Given the description of an element on the screen output the (x, y) to click on. 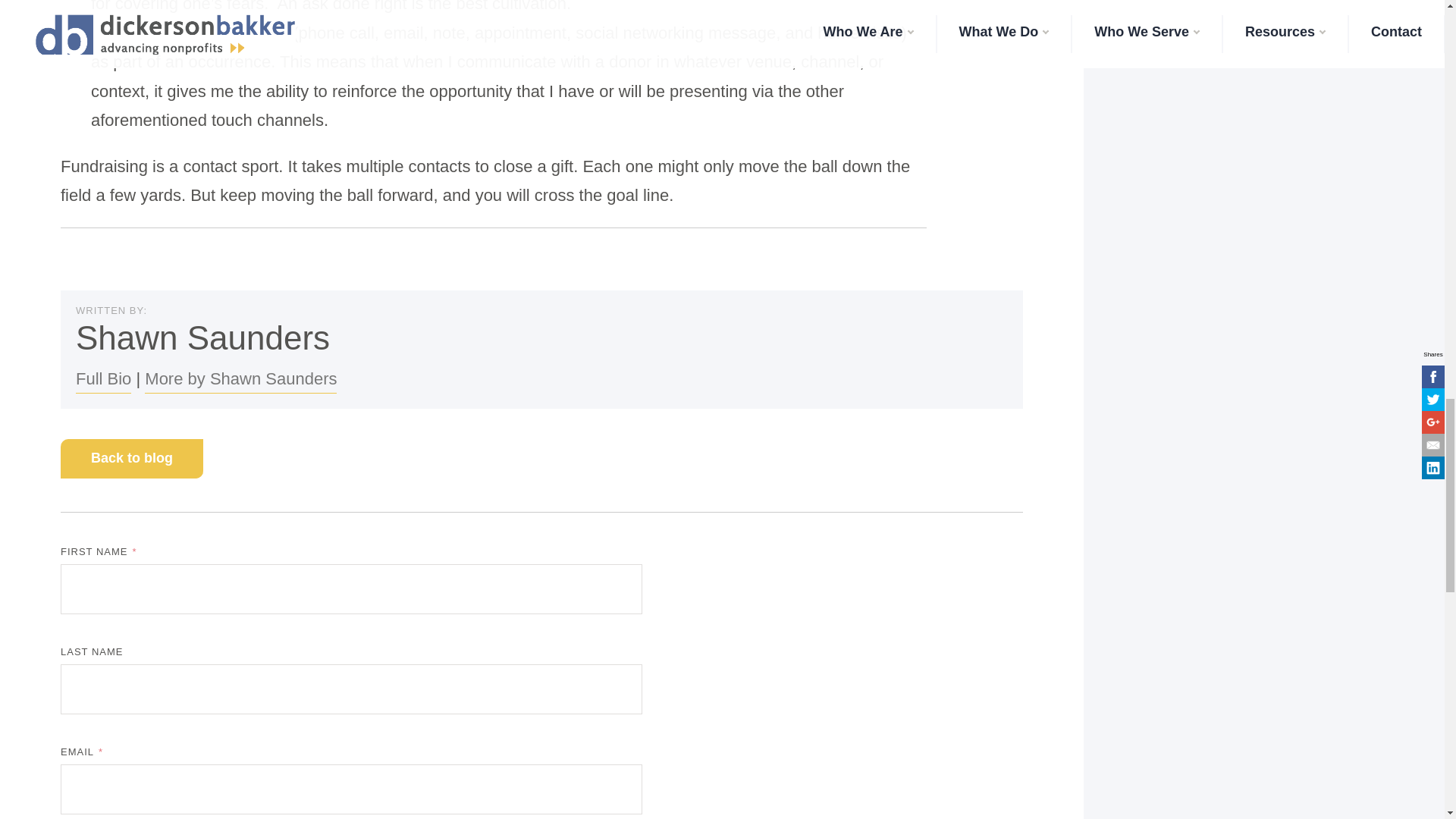
More by Shawn Saunders (240, 378)
Full Bio (103, 378)
Back to blog (132, 458)
